Given the description of an element on the screen output the (x, y) to click on. 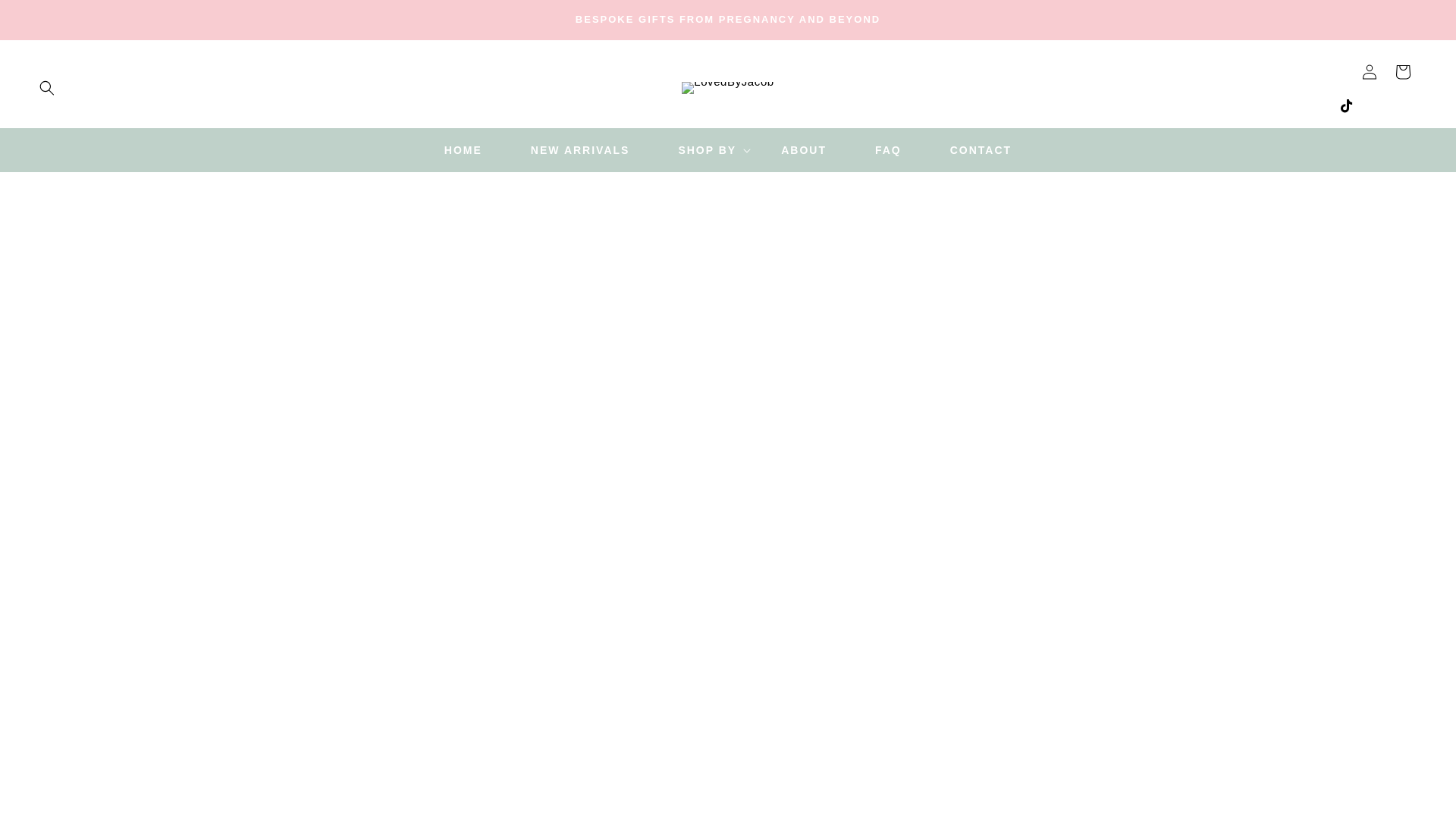
Log in (1369, 71)
NEW ARRIVALS (579, 150)
CONTACT (980, 150)
Cart (1402, 71)
ABOUT (803, 150)
FAQ (888, 150)
SKIP TO CONTENT (45, 16)
HOME (463, 150)
